Given the description of an element on the screen output the (x, y) to click on. 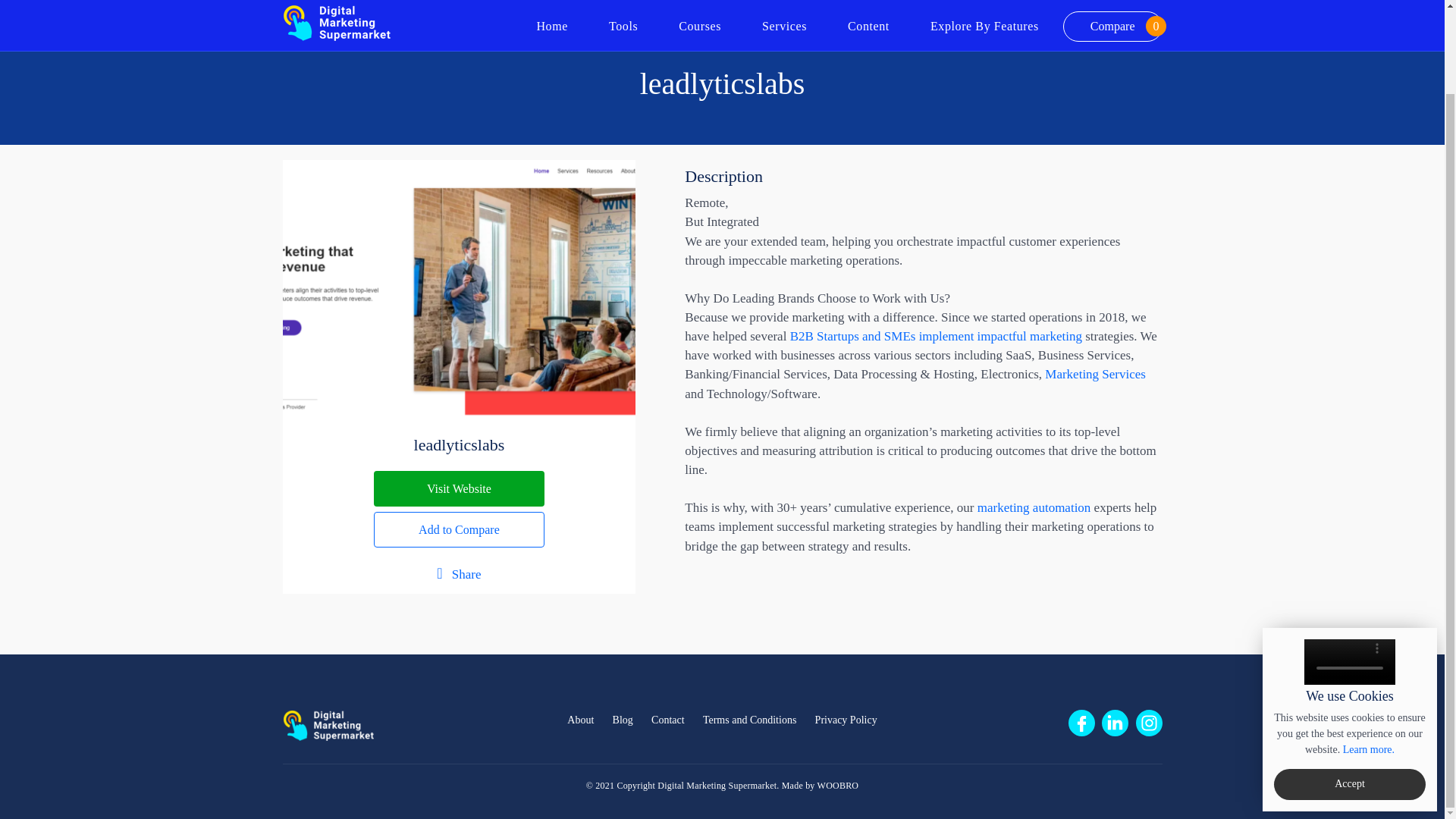
Marketing Services (1095, 373)
Contact (668, 720)
Terms and Conditions (749, 720)
WordPress Agency London (837, 785)
Pricacy Policy (1368, 654)
Blog (622, 720)
WOOBRO (837, 785)
About (580, 720)
Blog (622, 720)
About (580, 720)
